Given the description of an element on the screen output the (x, y) to click on. 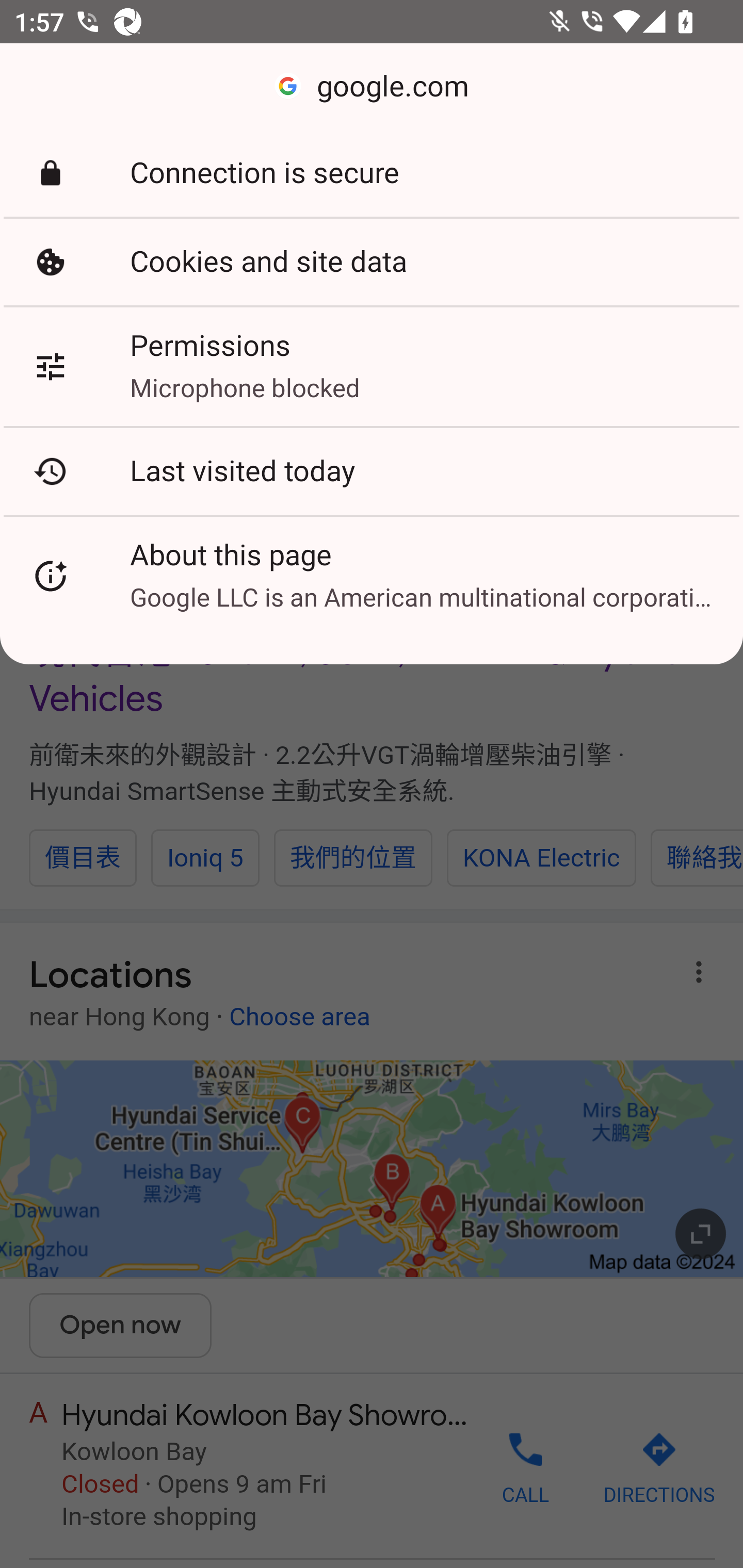
google.com (371, 86)
Connection is secure (371, 173)
Cookies and site data (371, 261)
Permissions Microphone blocked (371, 366)
Last visited today (371, 471)
